Given the description of an element on the screen output the (x, y) to click on. 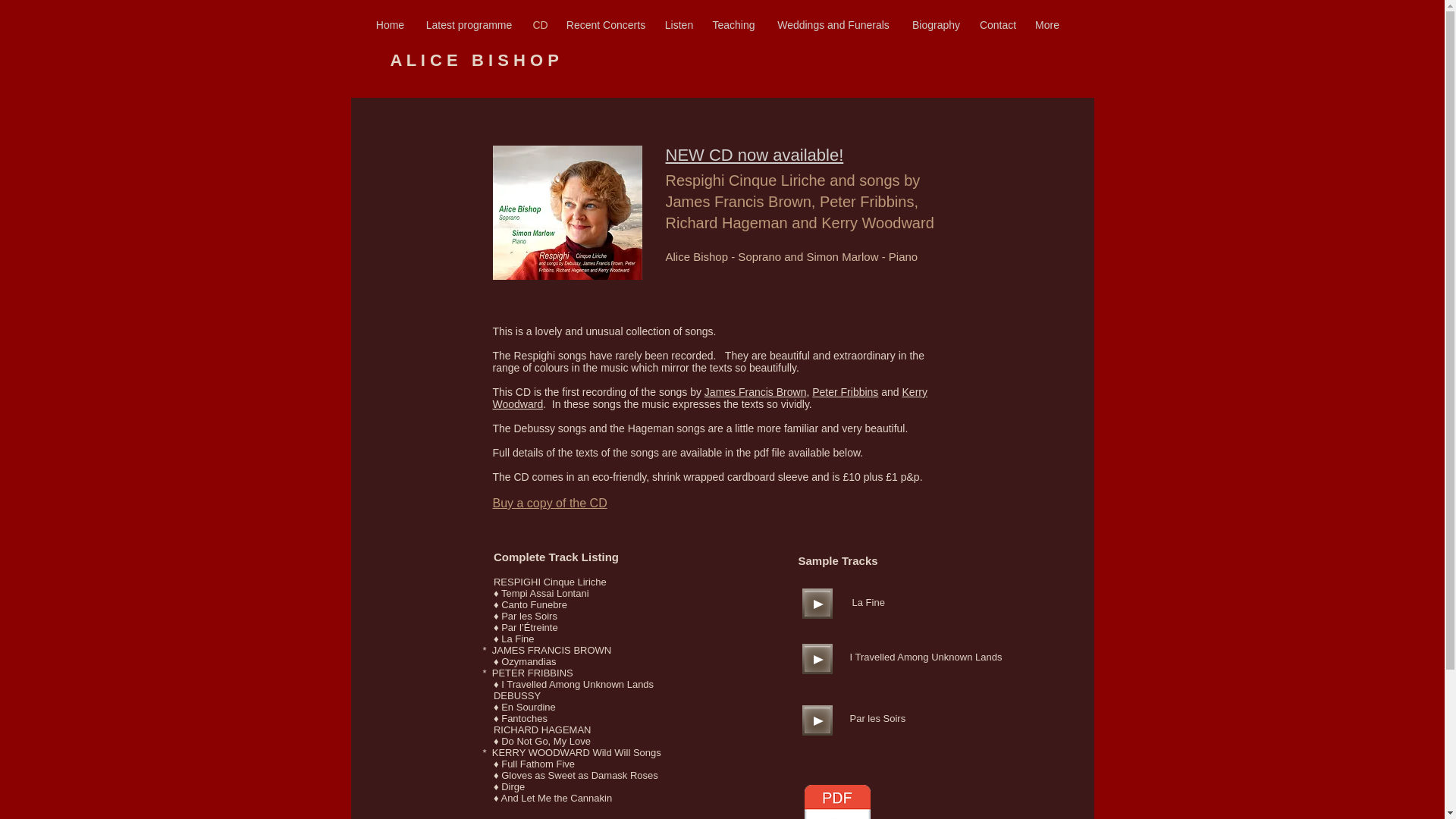
Notes and song texts.pdf (836, 801)
Latest programme (468, 24)
Home (389, 24)
Listen (678, 24)
Biography (936, 24)
Peter Fribbins (844, 391)
Kerry Woodward (710, 397)
Recent Concerts (606, 24)
James Francis Brown (755, 391)
Weddings and Funerals (832, 24)
